Given the description of an element on the screen output the (x, y) to click on. 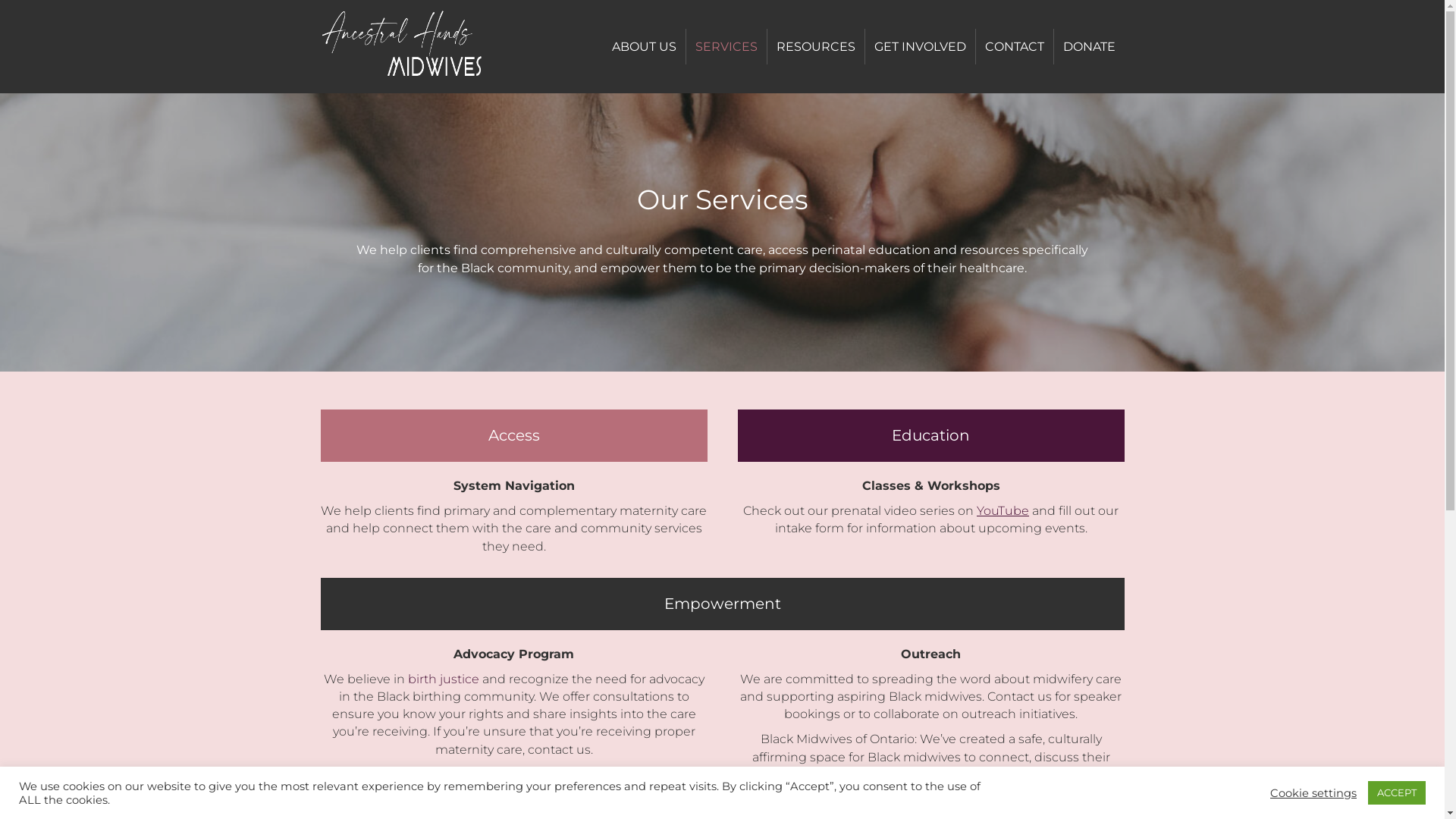
RESOURCES Element type: text (815, 46)
birth justice Element type: text (443, 678)
ACCEPT Element type: text (1396, 792)
SERVICES Element type: text (725, 46)
CONTACT Element type: text (1013, 46)
Cookie settings Element type: text (1313, 792)
Logo_TextWhite Element type: hover (423, 46)
GET INVOLVED Element type: text (919, 46)
ABOUT US Element type: text (643, 46)
DONATE Element type: text (1089, 46)
YouTube Element type: text (1002, 510)
